Given the description of an element on the screen output the (x, y) to click on. 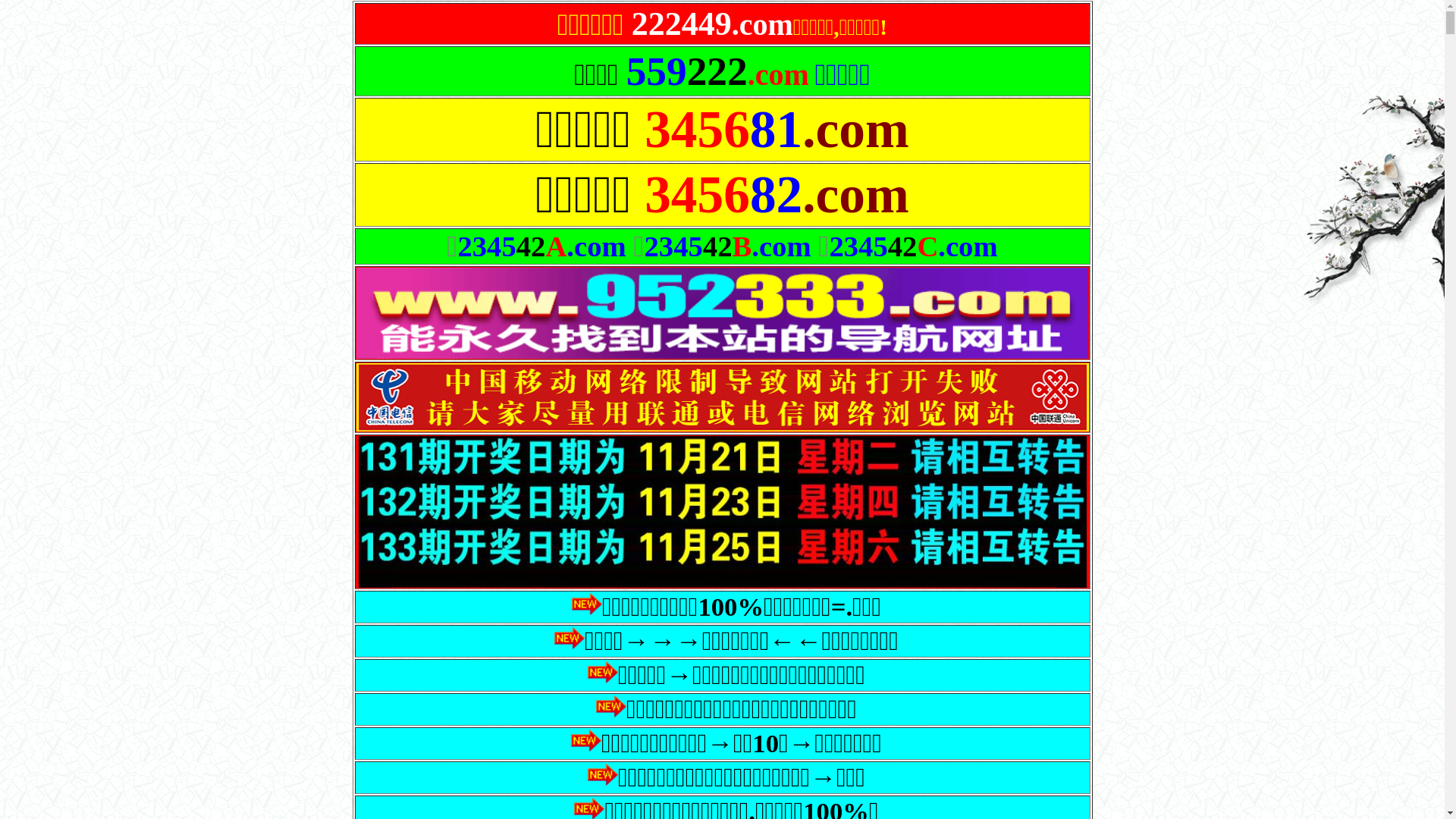
http://559222a.com/# Element type: text (727, 155)
http://234542a.com/# Element type: text (727, 137)
http://559222k.com/# Element type: text (727, 242)
http://559222b.com/# Element type: text (727, 190)
http://234542c.com/# Element type: text (727, 207)
http://559222c.com/# Element type: text (727, 225)
http://234542b.com/# Element type: text (727, 172)
